Given the description of an element on the screen output the (x, y) to click on. 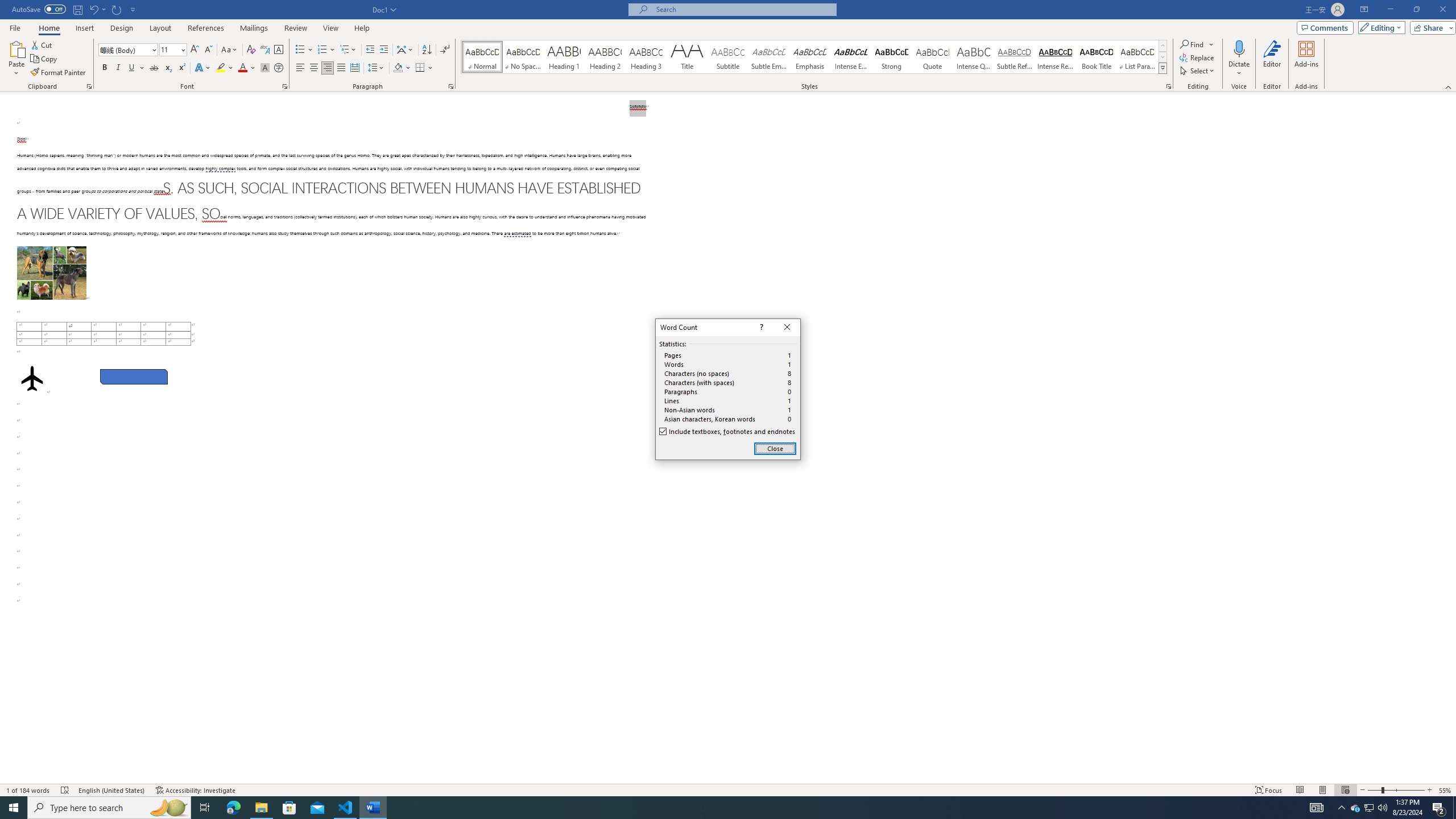
Undo Paragraph Alignment (96, 9)
Font Color Red (241, 67)
